Given the description of an element on the screen output the (x, y) to click on. 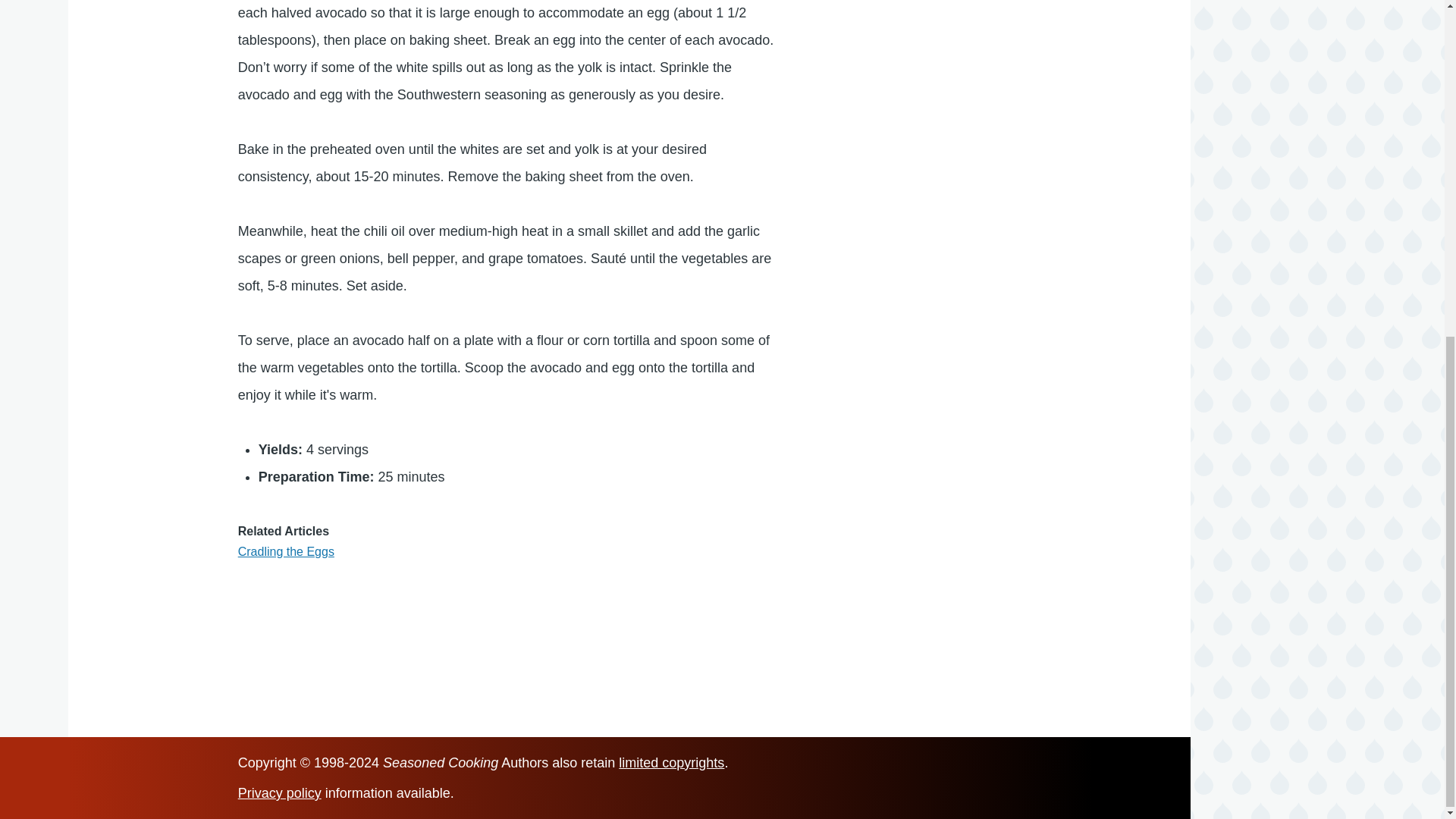
Cradling the Eggs (286, 551)
limited copyrights (670, 762)
Privacy policy (279, 792)
Advertisement (970, 13)
